Given the description of an element on the screen output the (x, y) to click on. 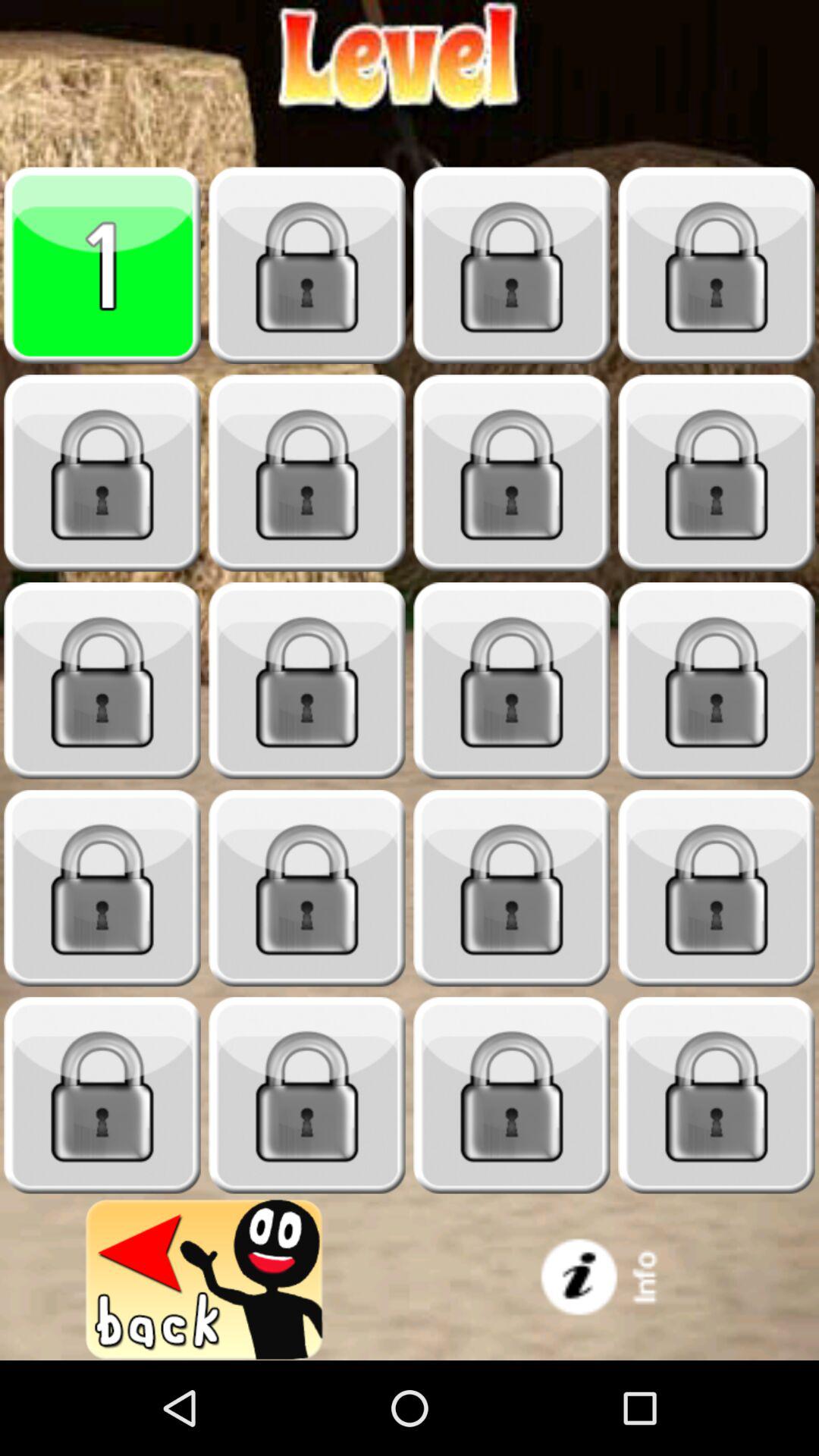
lock the button (306, 1094)
